Given the description of an element on the screen output the (x, y) to click on. 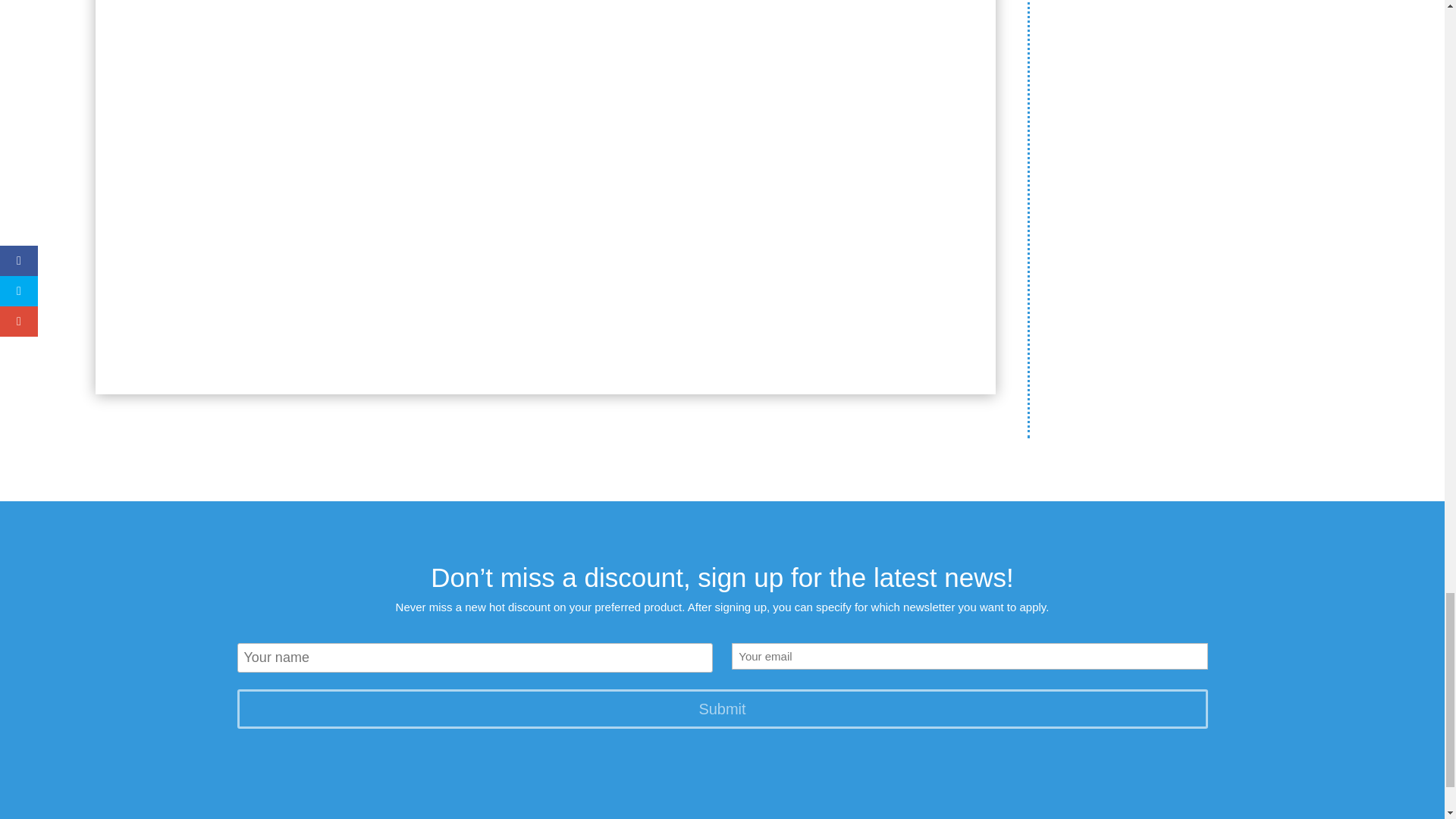
Submit (721, 708)
Submit (721, 708)
